Given the description of an element on the screen output the (x, y) to click on. 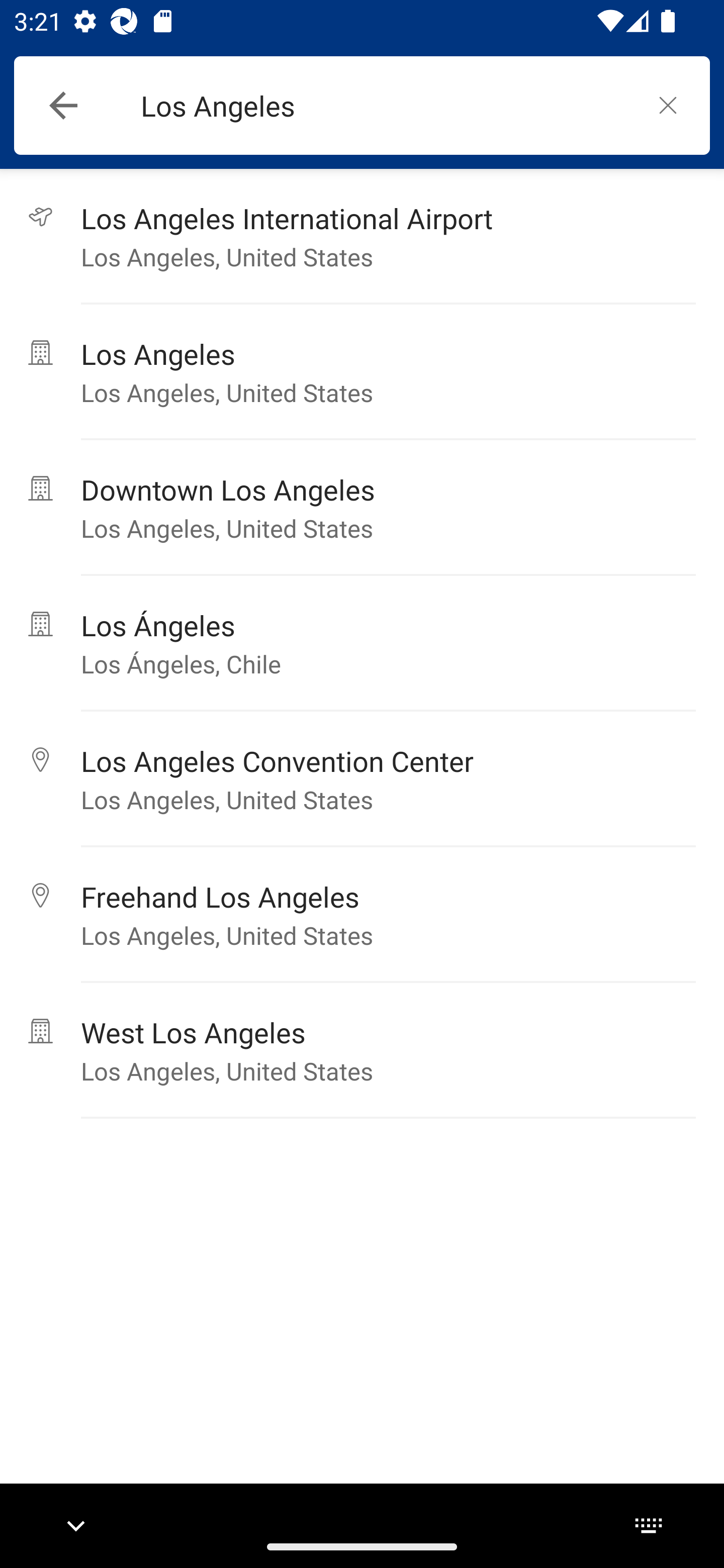
Navigate up (62, 105)
놕 (667, 104)
Los Angeles (382, 105)
넭 Los Angeles Los Angeles, United States (362, 372)
넭 Downtown Los Angeles Los Angeles, United States (362, 507)
넭 Los Ángeles Los Ángeles, Chile (362, 643)
낍 Freehand Los Angeles Los Angeles, United States (362, 914)
넭 West Los Angeles Los Angeles, United States (362, 1050)
